Given the description of an element on the screen output the (x, y) to click on. 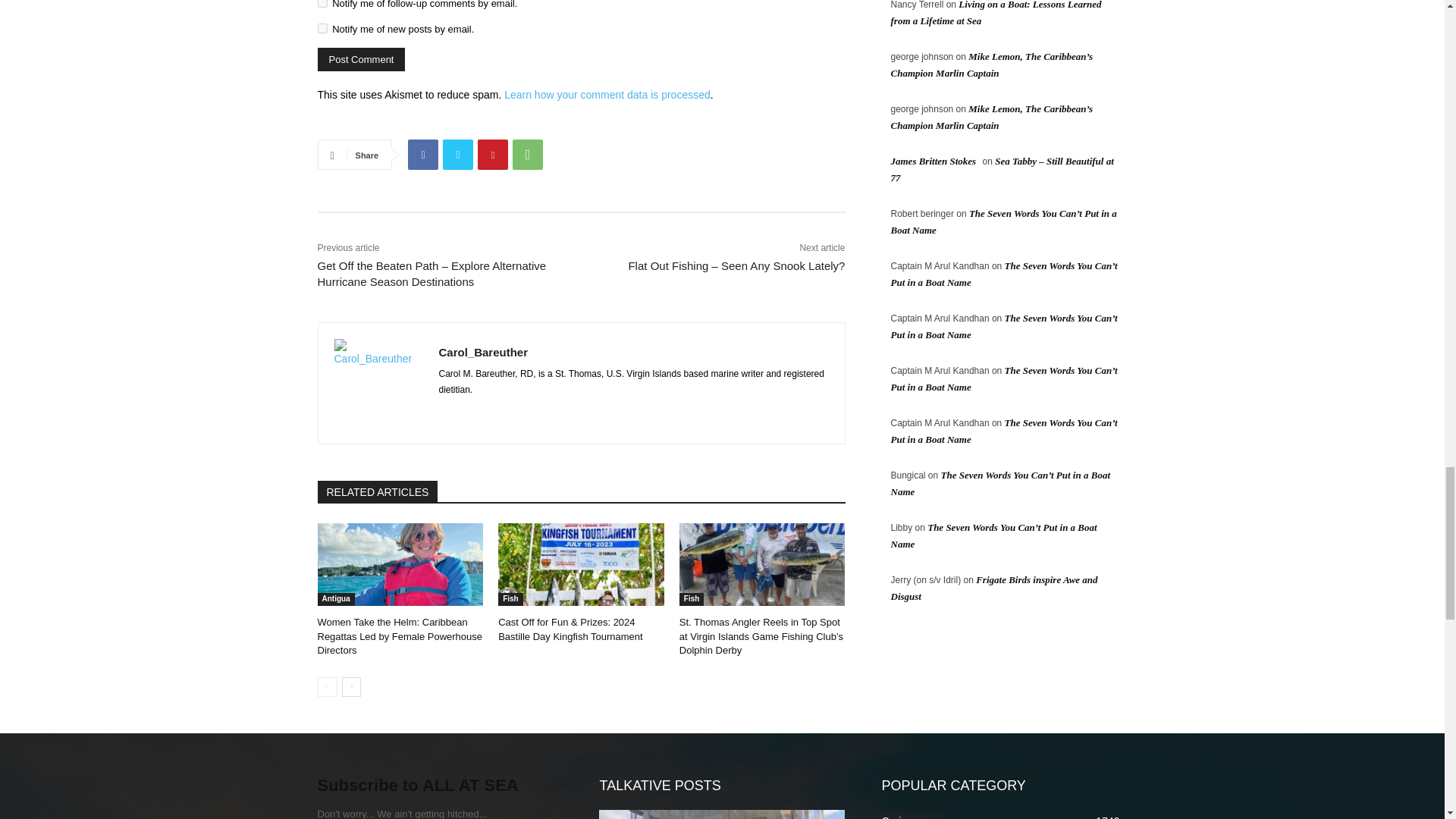
subscribe (321, 28)
Post Comment (360, 59)
subscribe (321, 3)
